Given the description of an element on the screen output the (x, y) to click on. 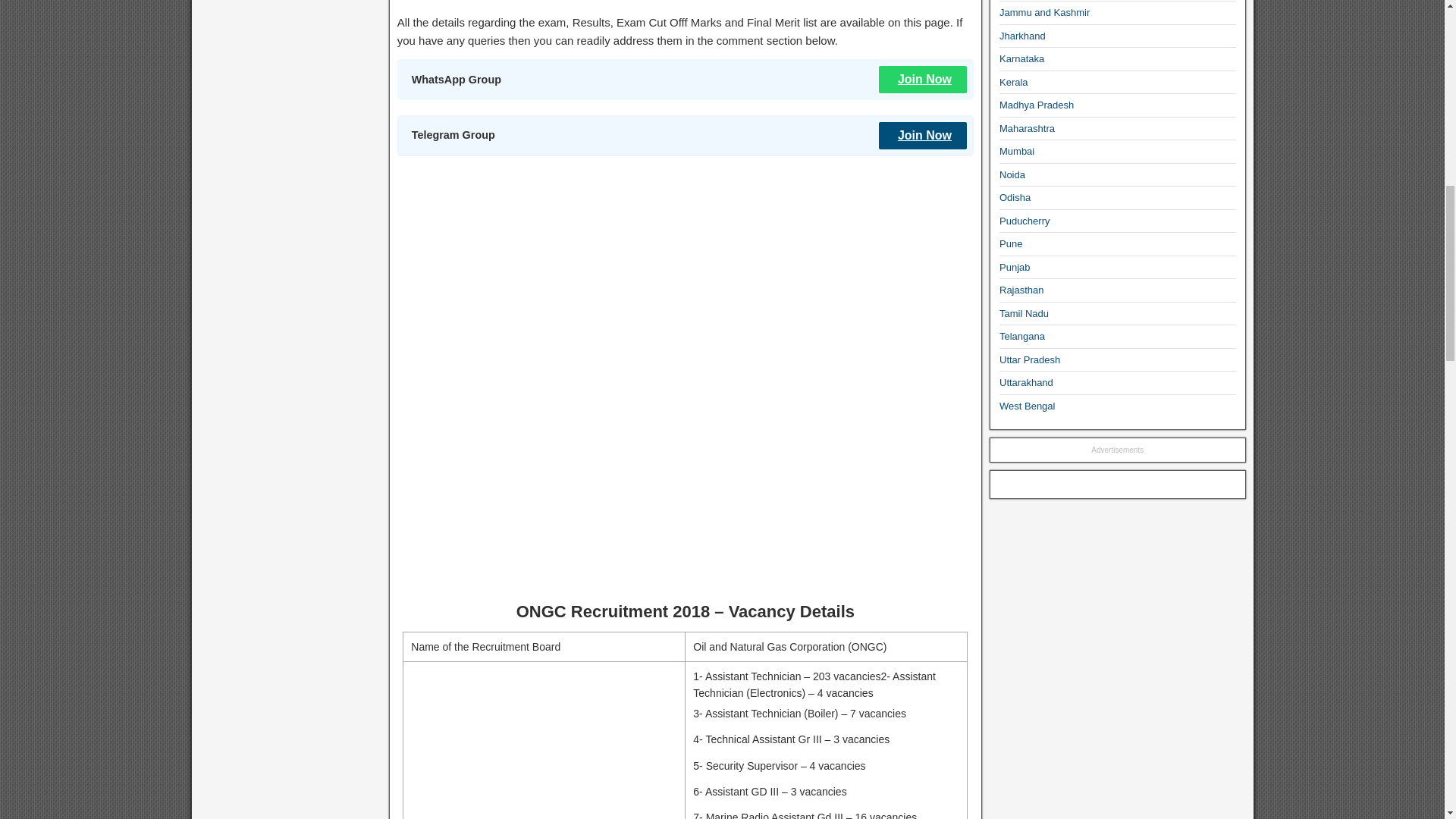
Join Now (922, 79)
Join Now (922, 135)
